Given the description of an element on the screen output the (x, y) to click on. 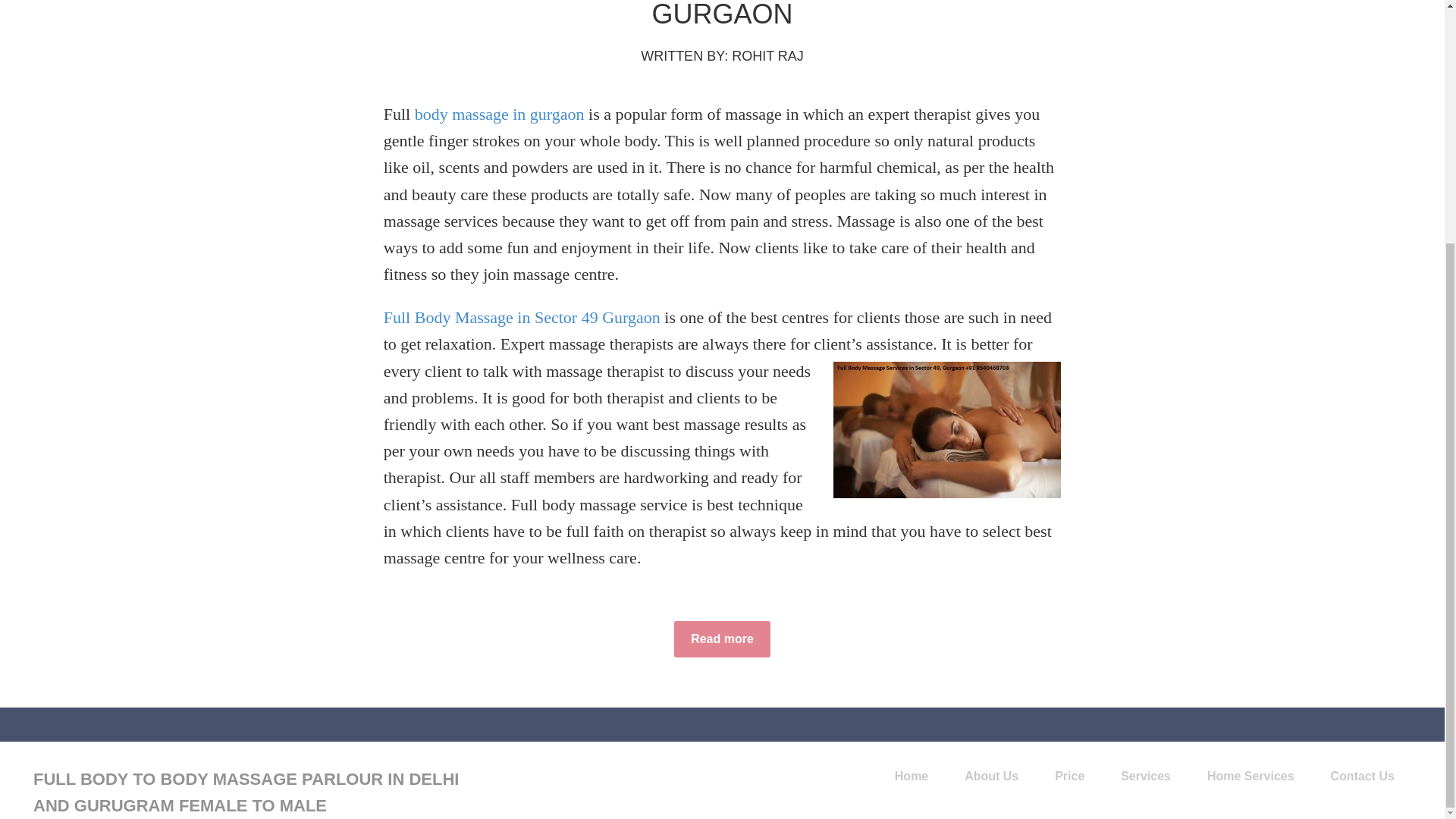
Services (1145, 776)
Home Services (1251, 776)
body massage in gurgaon (499, 113)
Full Body Massage in Sector 49 Gurgaon (522, 316)
ROHIT RAJ (767, 55)
Full Body Massage Services in Sector 49, Gurgaon (722, 14)
FULL BODY MASSAGE SERVICES IN SECTOR 49, GURGAON (722, 14)
Full Body Massage Services in Sector 49, Gurgaon (722, 638)
Read more (722, 638)
Home (910, 776)
